Given the description of an element on the screen output the (x, y) to click on. 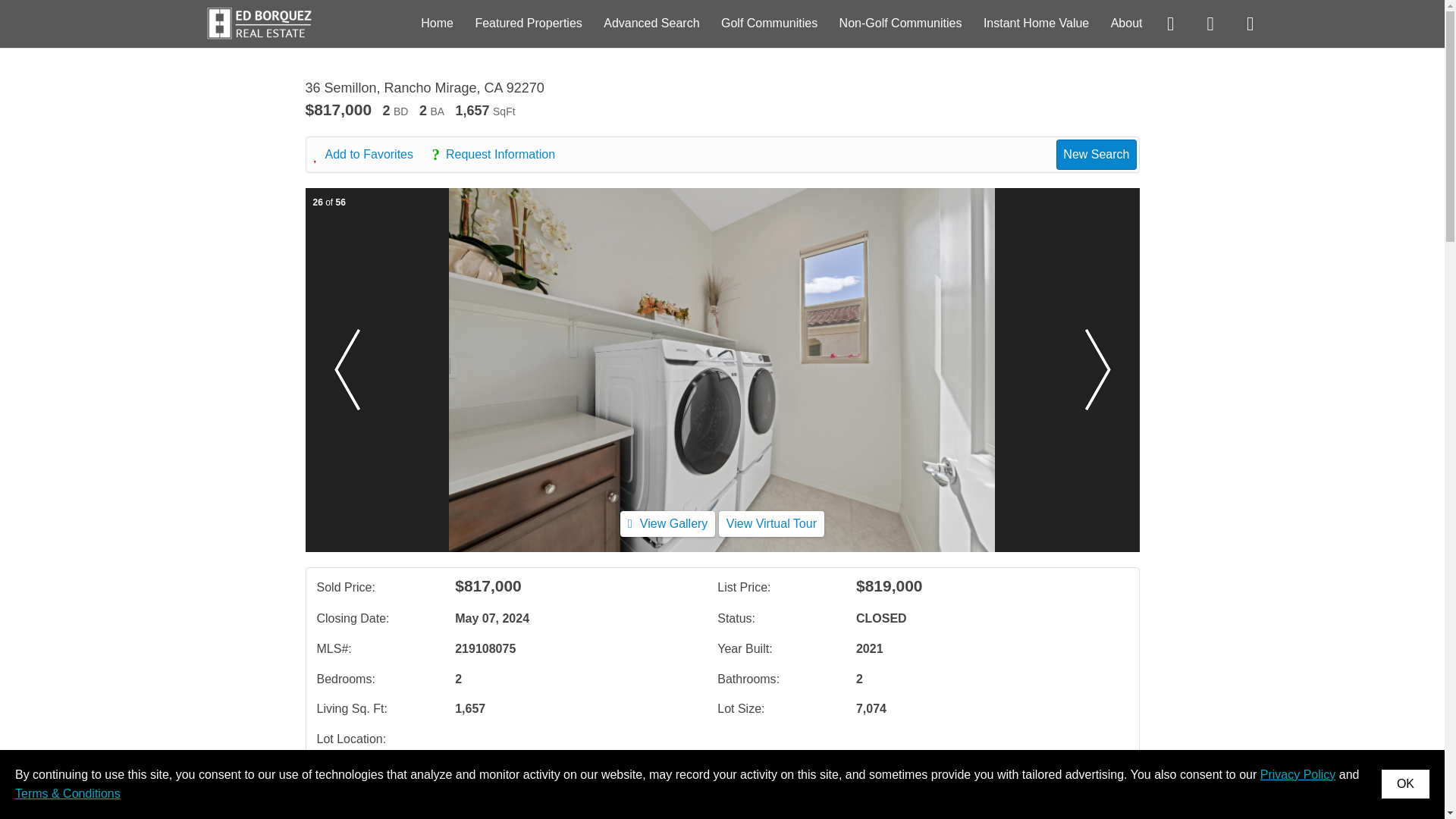
Golf Communities (768, 22)
Add to Favorites (371, 154)
About (1126, 22)
New Search (1096, 154)
Featured Properties (527, 22)
Non-Golf Communities (901, 22)
View Virtual Tour (771, 522)
View Gallery (667, 524)
Instant Home Value (1036, 22)
Advanced Search (651, 22)
Home (436, 22)
View Virtual Tour (771, 524)
View Gallery (667, 522)
Request Information (500, 154)
